Given the description of an element on the screen output the (x, y) to click on. 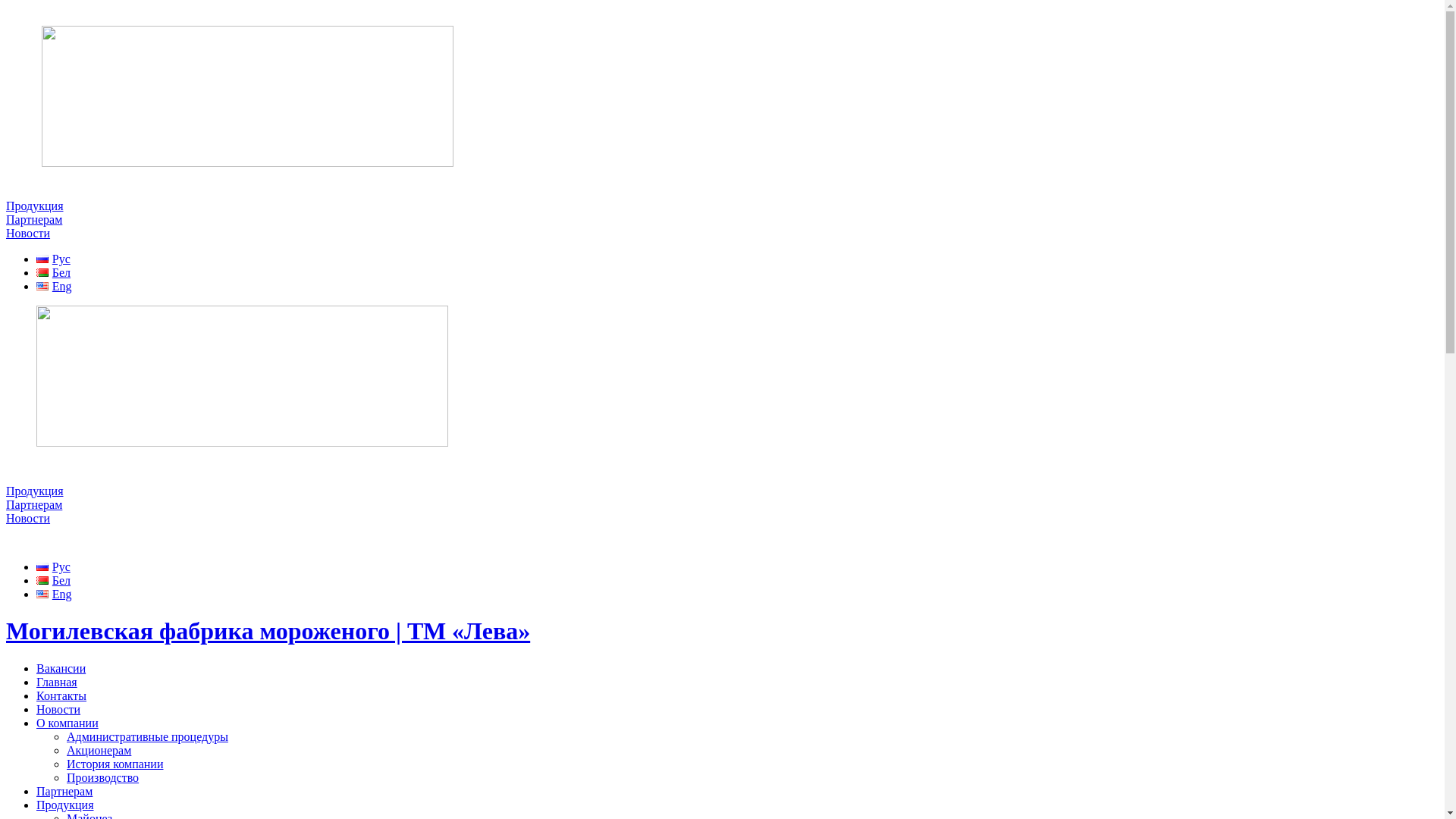
Eng Element type: text (54, 593)
Eng Element type: text (54, 285)
